Given the description of an element on the screen output the (x, y) to click on. 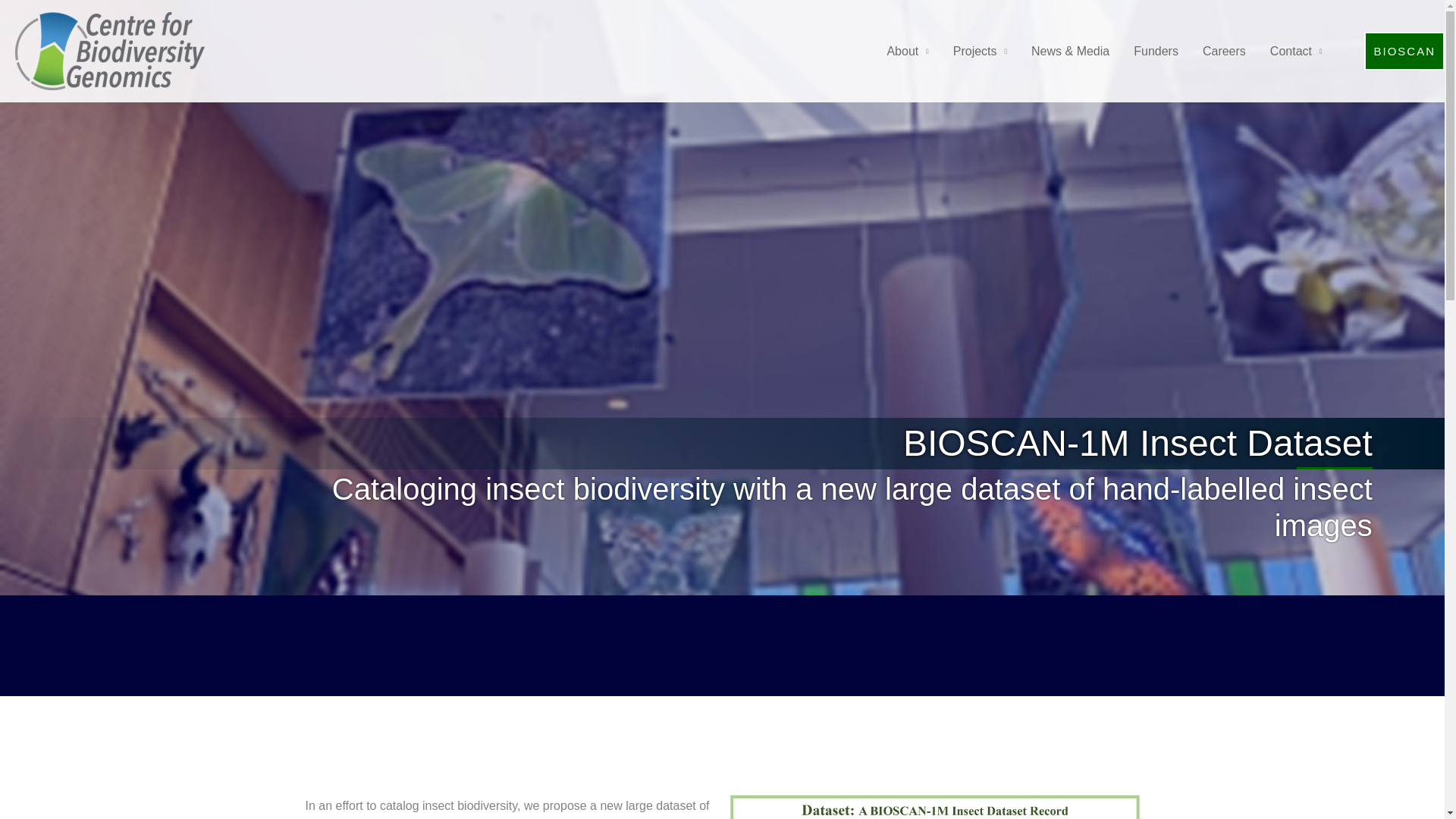
About (907, 51)
Contact (1296, 51)
Careers (1224, 51)
Projects (979, 51)
Funders (1156, 51)
